Given the description of an element on the screen output the (x, y) to click on. 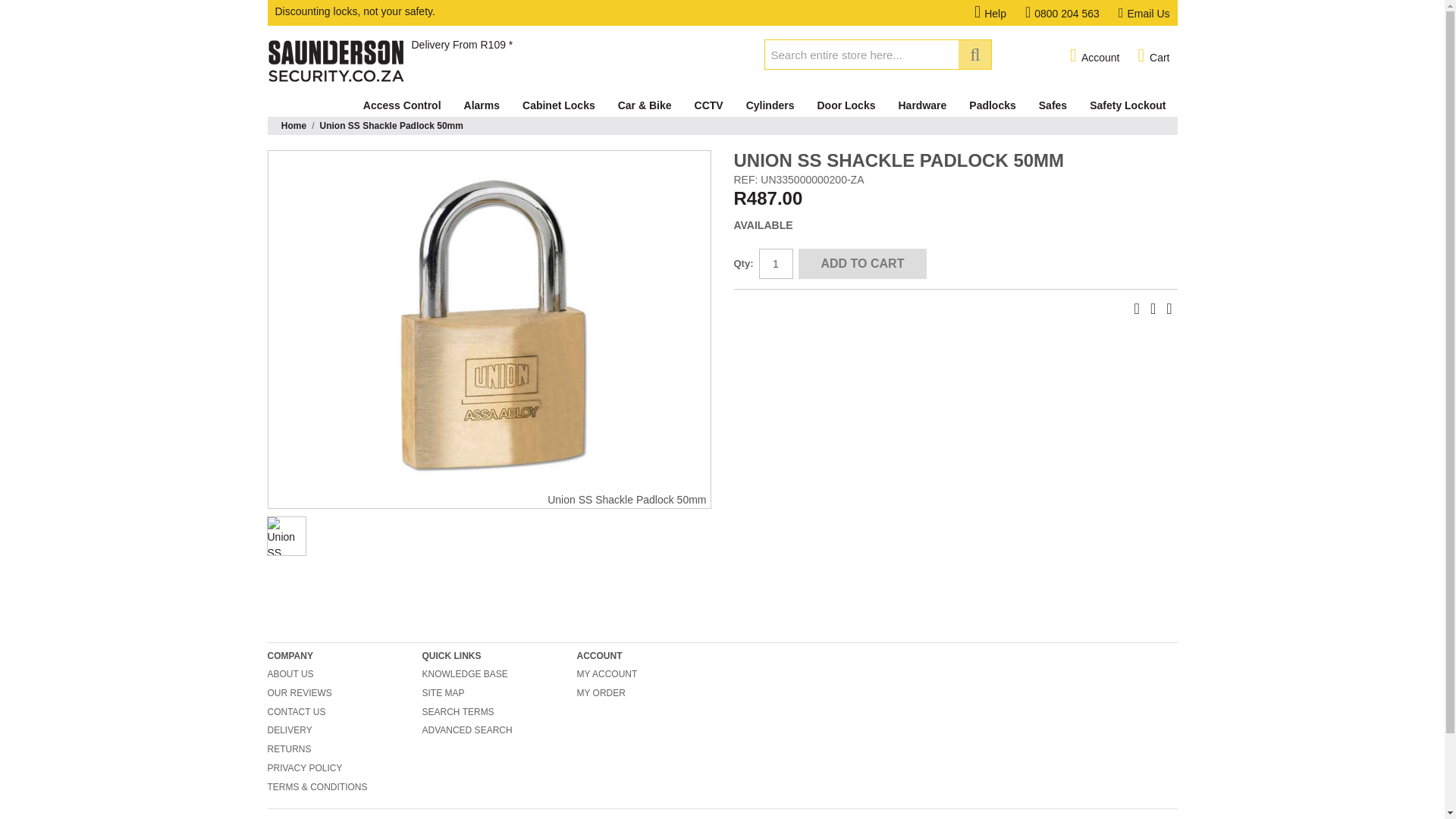
Go to Home Page (293, 126)
Help (999, 13)
Alarms (481, 105)
Search (974, 54)
Union SS Shackle Padlock 50mm (285, 536)
Cart (1152, 55)
Access Control (402, 105)
Add to Cart (861, 263)
Email Us (1144, 13)
Qty (775, 263)
